Given the description of an element on the screen output the (x, y) to click on. 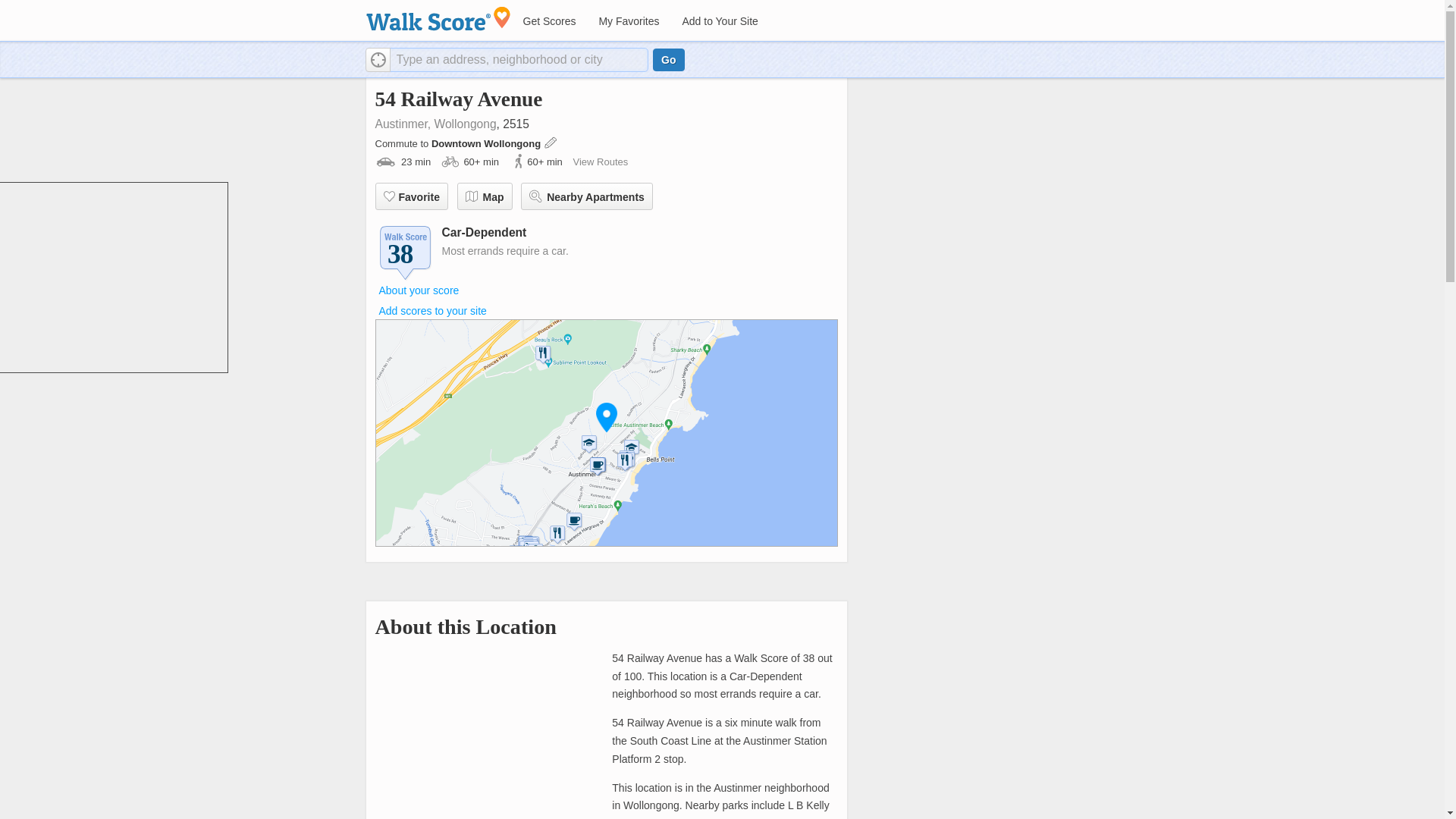
Austinmer, (402, 123)
Add to Your Site (719, 21)
Nearby Apartments (586, 195)
Wollongong (464, 123)
About your score (419, 289)
My Favorites (628, 21)
Favorite (410, 195)
Get Scores (548, 21)
Go (668, 59)
Map (484, 195)
Add scores to your site (432, 310)
3rd party ad content (113, 277)
View Routes (599, 161)
Downtown Wollongong (486, 143)
